Given the description of an element on the screen output the (x, y) to click on. 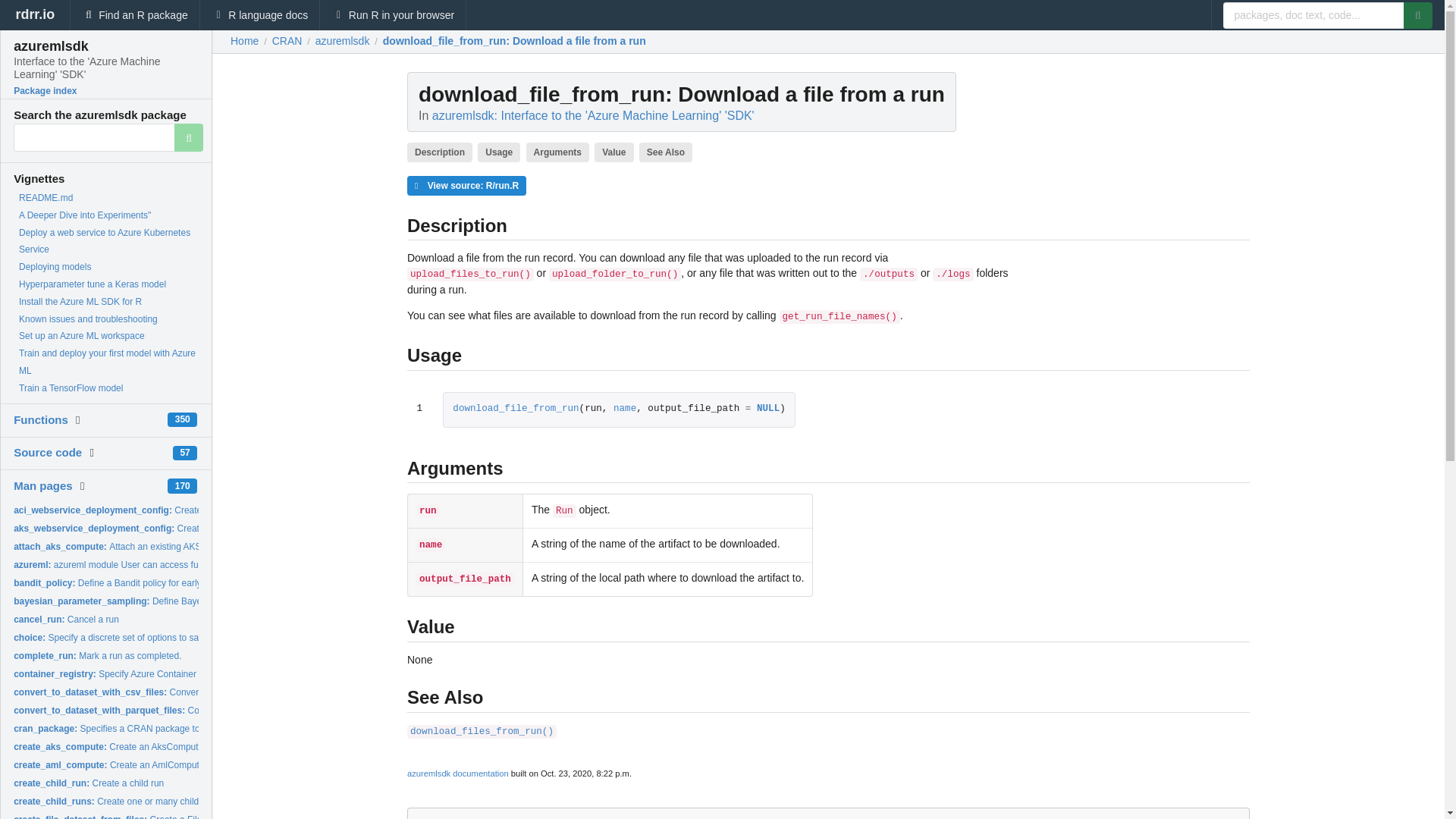
R language docs (260, 15)
Man pages (42, 485)
Train a TensorFlow model (70, 388)
Run R in your browser (392, 15)
Set up an Azure ML workspace (81, 335)
Train and deploy your first model with Azure ML (106, 361)
Hyperparameter tune a Keras model (91, 284)
rdrr.io (34, 15)
README.md (45, 197)
Find an R package (134, 15)
Functions (40, 419)
choice: Specify a discrete set of options to sample from (125, 637)
Known issues and troubleshooting (87, 318)
Source code (47, 451)
